Given the description of an element on the screen output the (x, y) to click on. 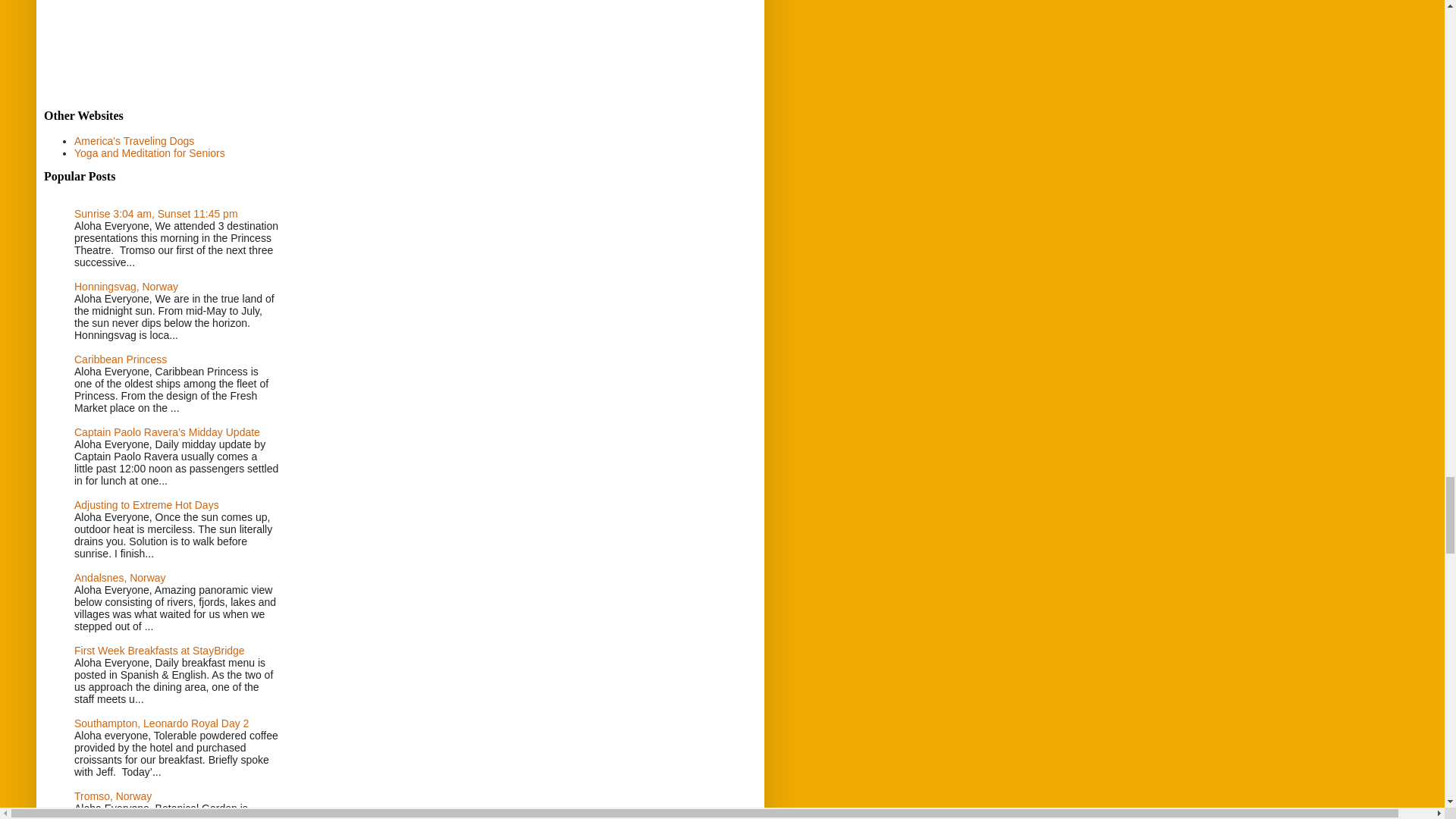
Yoga and Meditation for Seniors (149, 152)
Sunrise 3:04 am, Sunset 11:45 pm (156, 214)
America's Traveling Dogs (133, 141)
Honningsvag, Norway (125, 286)
Caribbean Princess (120, 358)
